Given the description of an element on the screen output the (x, y) to click on. 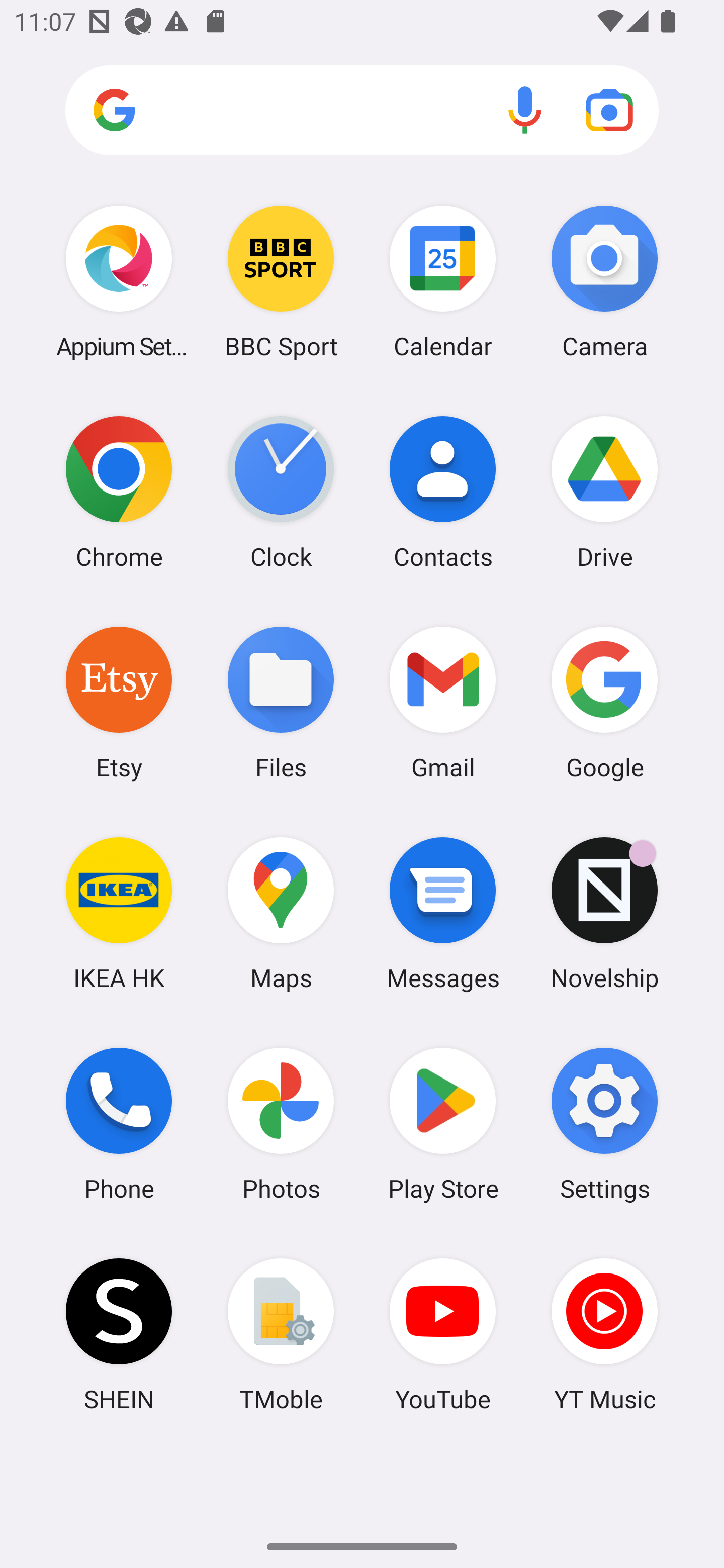
Search apps, web and more (361, 110)
Voice search (524, 109)
Google Lens (608, 109)
Appium Settings (118, 281)
BBC Sport (280, 281)
Calendar (443, 281)
Camera (604, 281)
Chrome (118, 492)
Clock (280, 492)
Contacts (443, 492)
Drive (604, 492)
Etsy (118, 702)
Files (280, 702)
Gmail (443, 702)
Google (604, 702)
IKEA HK (118, 913)
Maps (280, 913)
Messages (443, 913)
Novelship Novelship has 2 notifications (604, 913)
Phone (118, 1124)
Photos (280, 1124)
Play Store (443, 1124)
Settings (604, 1124)
SHEIN (118, 1334)
TMoble (280, 1334)
YouTube (443, 1334)
YT Music (604, 1334)
